Given the description of an element on the screen output the (x, y) to click on. 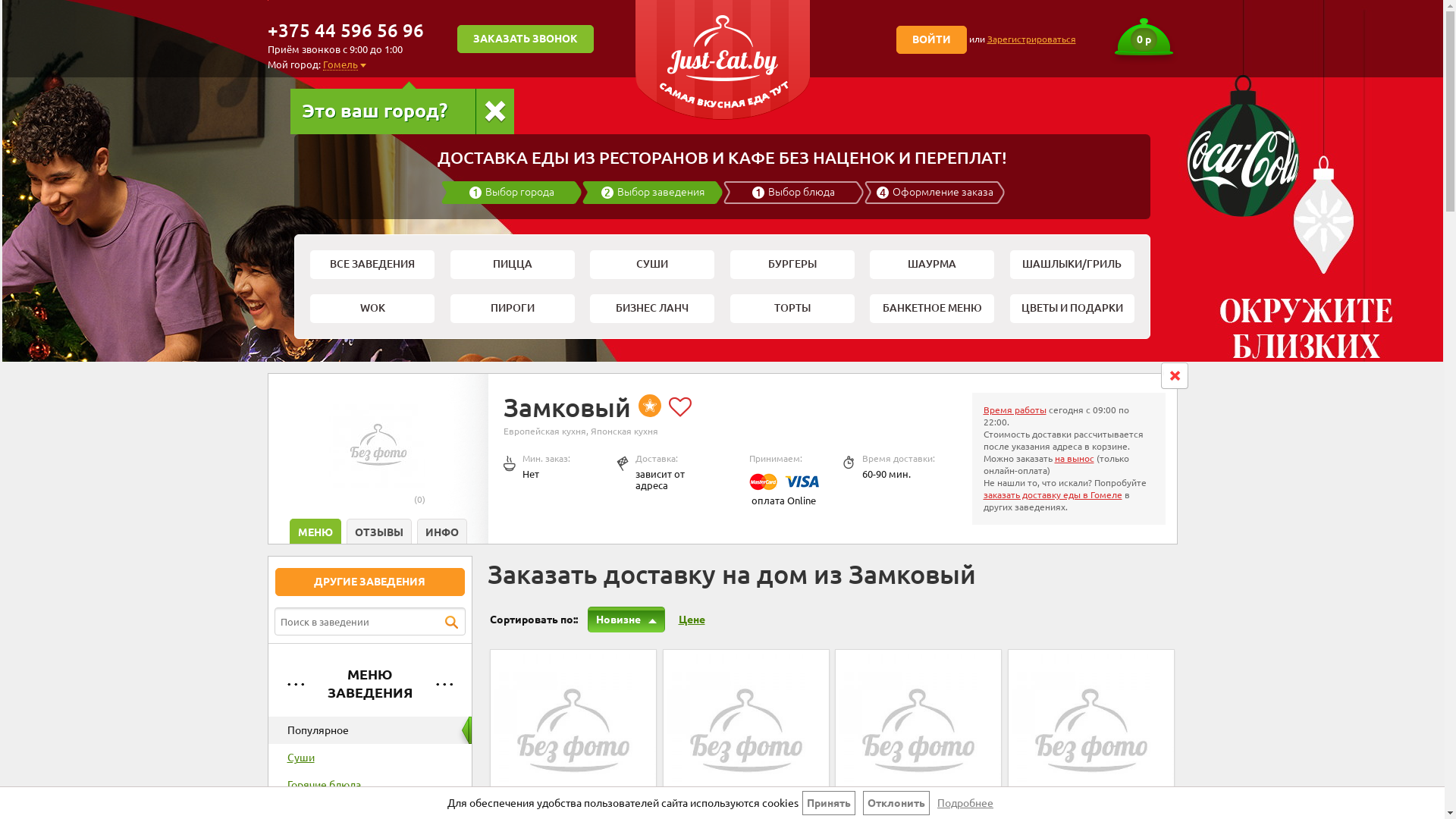
(0) Element type: text (419, 498)
WOK Element type: text (372, 308)
+375 44 596 56 96 Element type: text (344, 30)
